Given the description of an element on the screen output the (x, y) to click on. 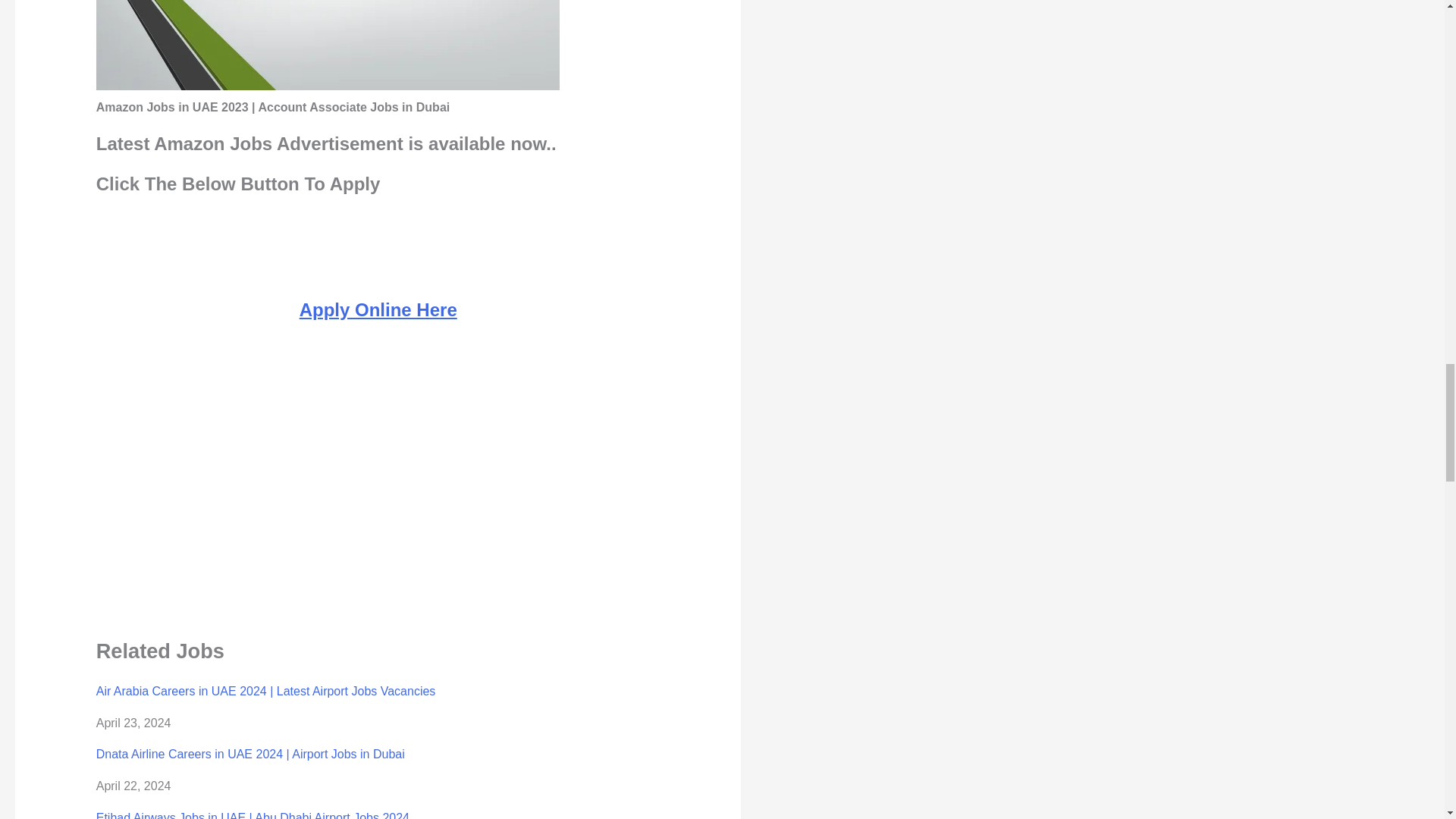
Apply Online Here (378, 309)
